Given the description of an element on the screen output the (x, y) to click on. 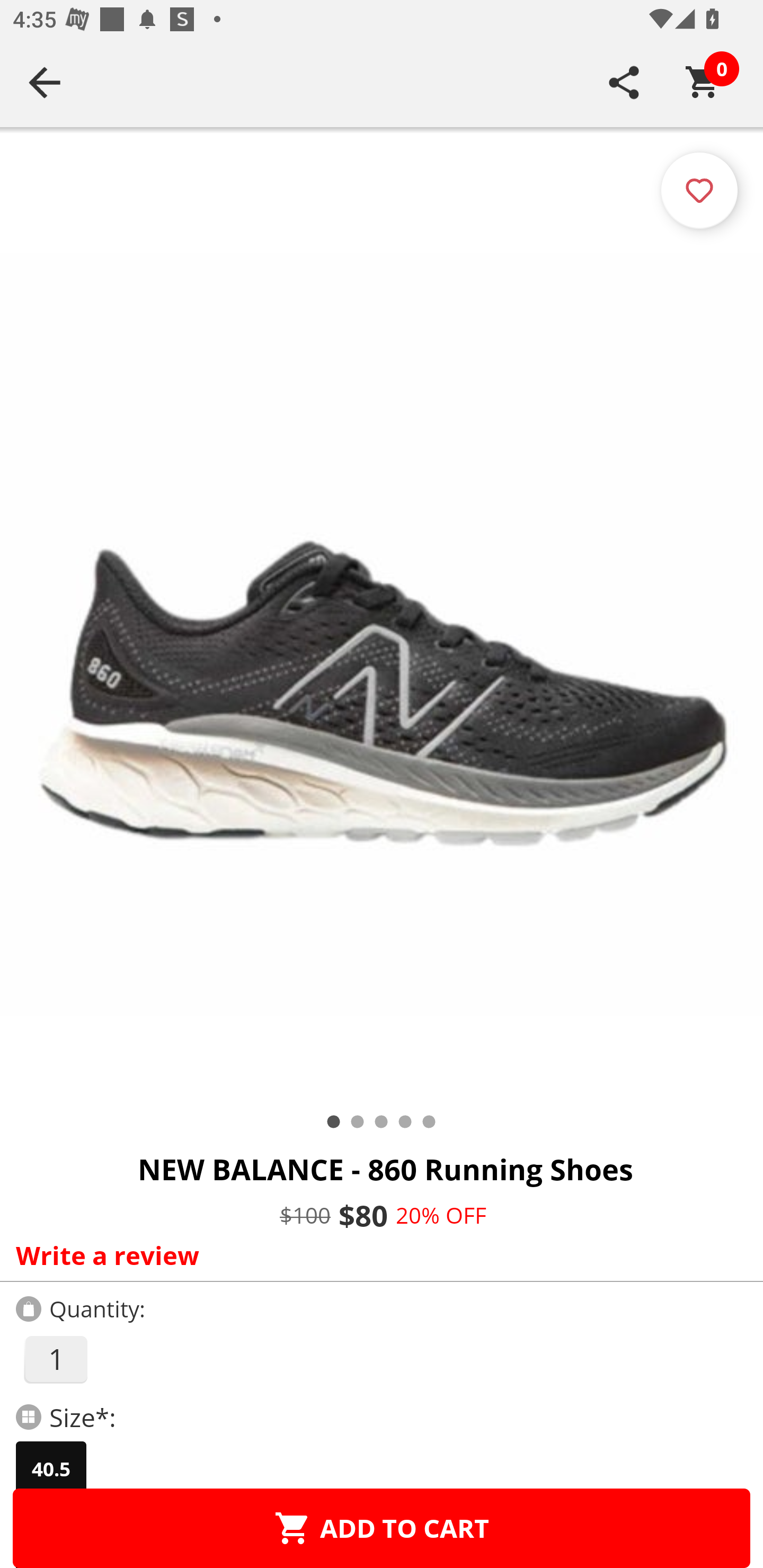
Navigate up (44, 82)
SHARE (623, 82)
Cart (703, 81)
Write a review (377, 1255)
1 (55, 1358)
40.5 (51, 1468)
ADD TO CART (381, 1528)
